Given the description of an element on the screen output the (x, y) to click on. 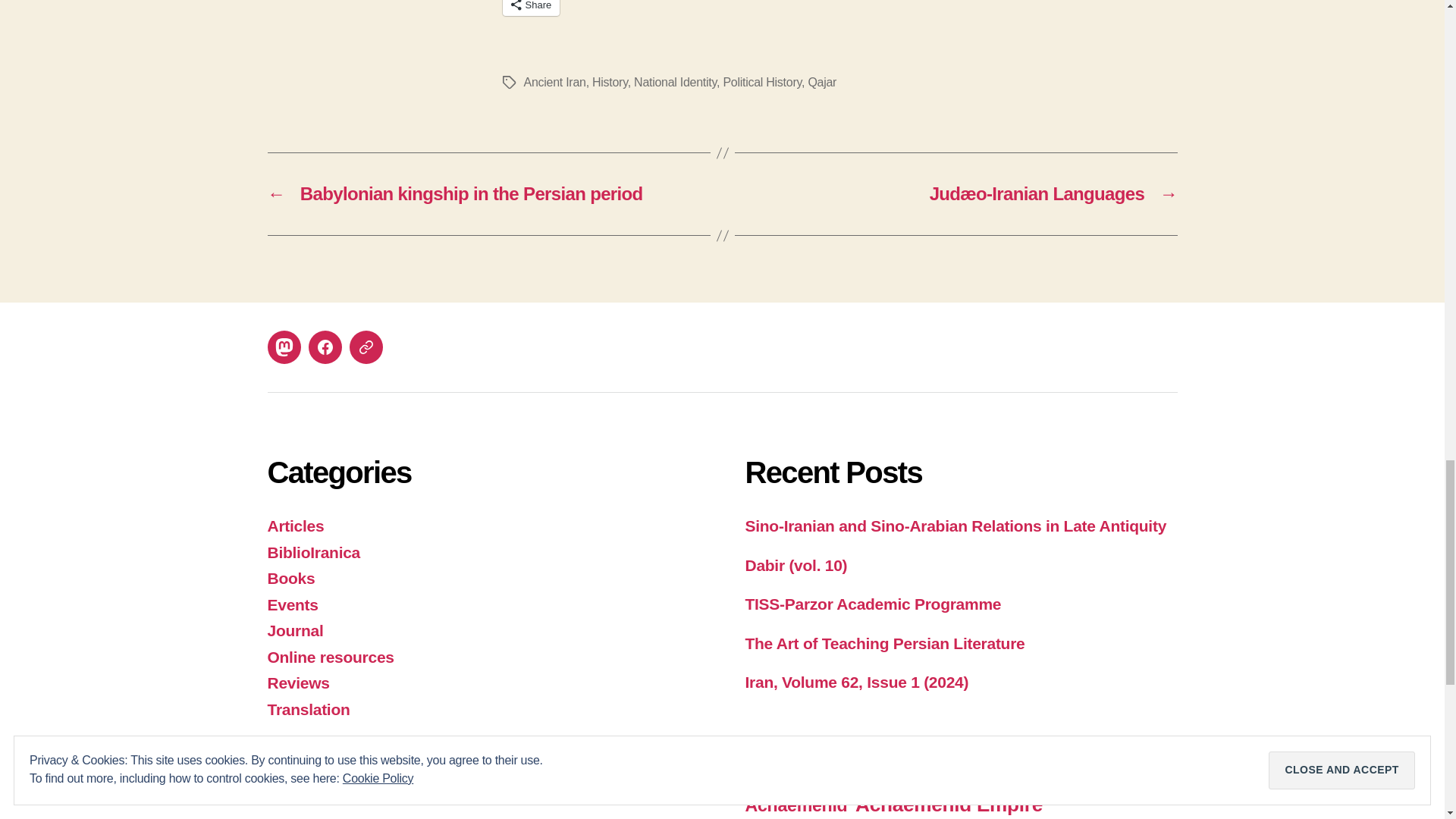
BiblioIranica on Mastodon (282, 346)
Share (530, 7)
BiblioIranica on Facebook (323, 346)
BiblioIranica on Bluesky (365, 346)
